Given the description of an element on the screen output the (x, y) to click on. 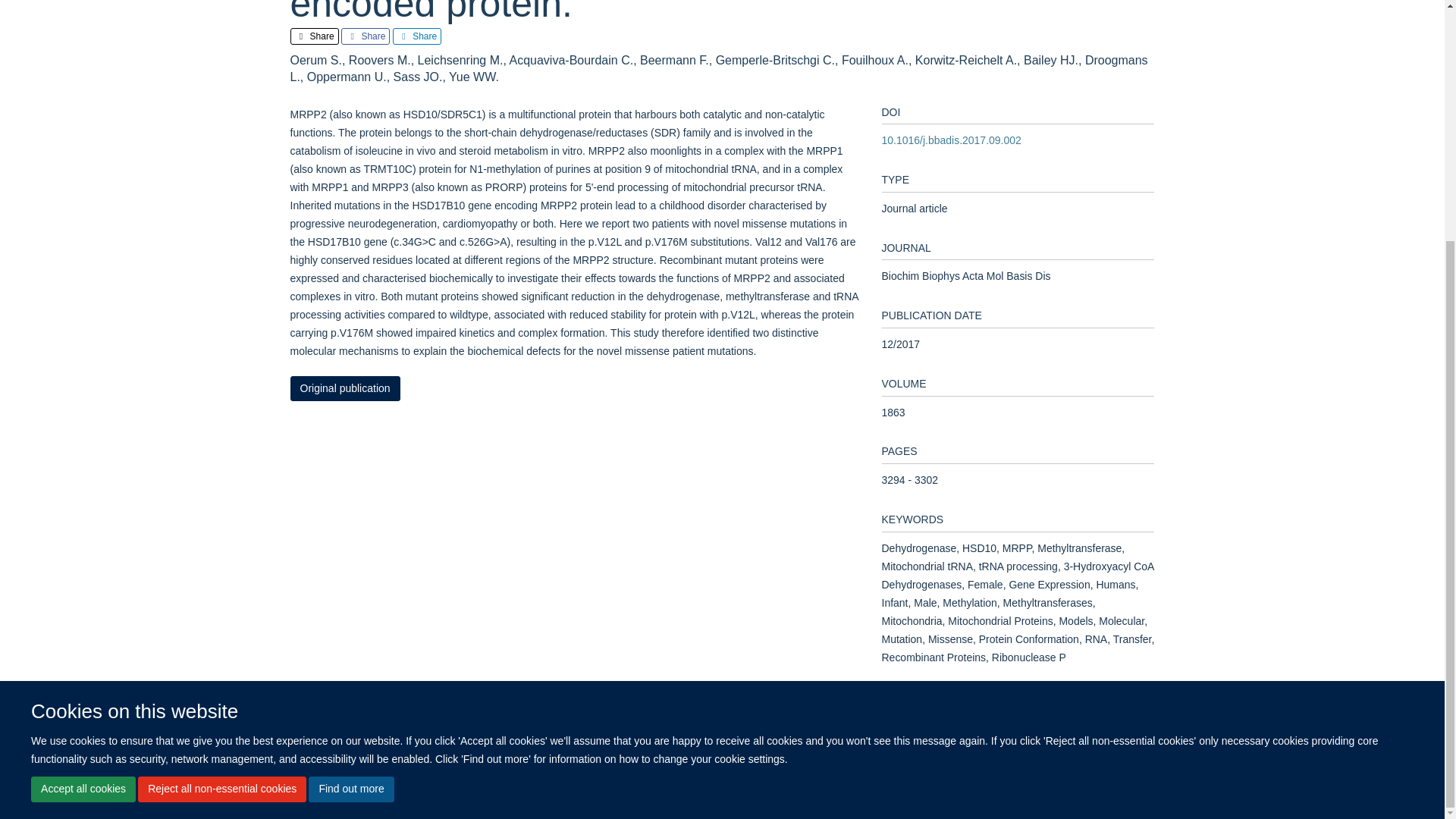
Reject all non-essential cookies (221, 456)
Find out more (350, 456)
Accept all cookies (82, 456)
